Given the description of an element on the screen output the (x, y) to click on. 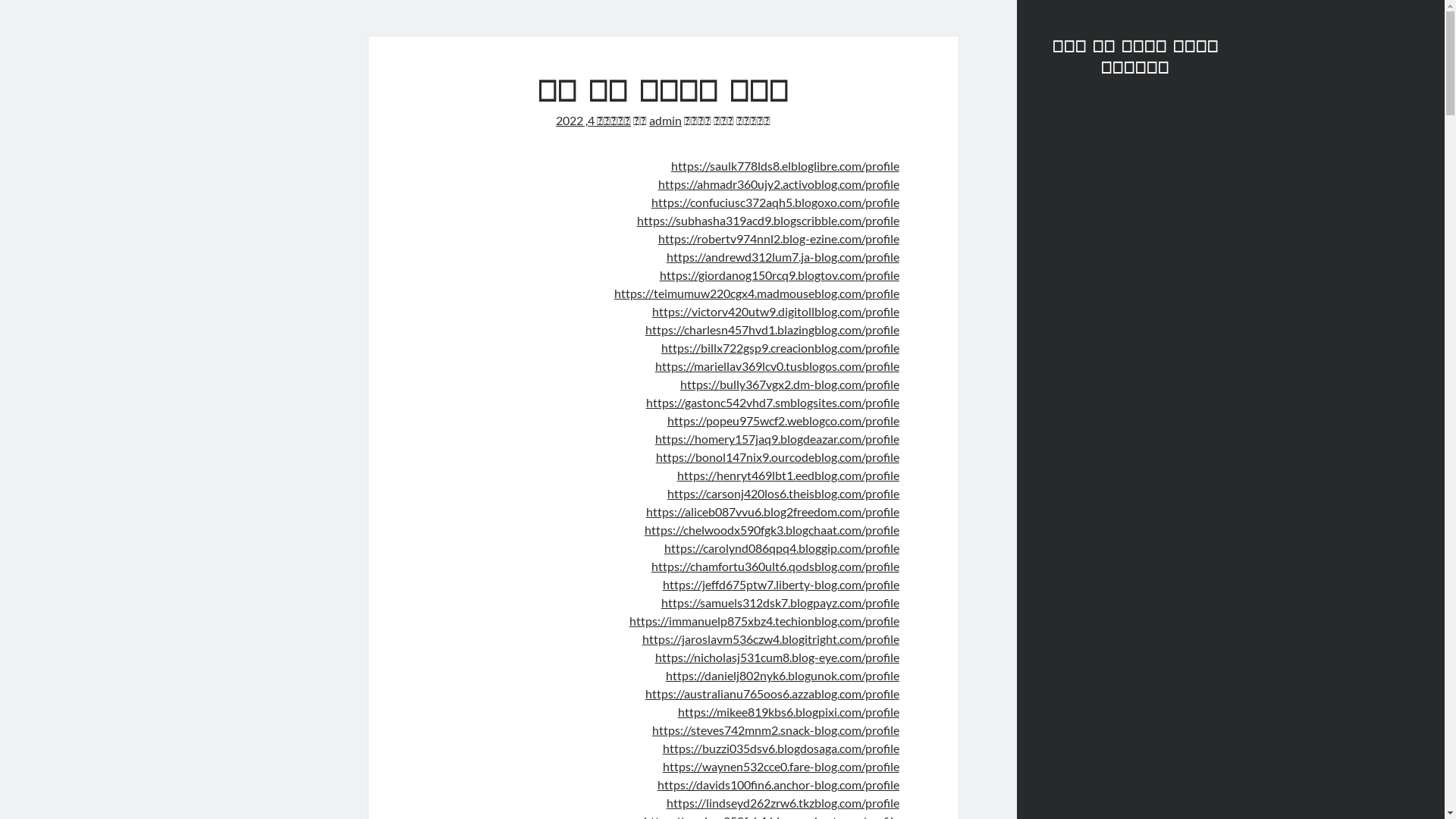
https://waynen532cce0.fare-blog.com/profile Element type: text (780, 766)
https://saulk778lds8.elbloglibre.com/profile Element type: text (785, 165)
https://chelwoodx590fgk3.blogchaat.com/profile Element type: text (771, 529)
https://carsonj420los6.theisblog.com/profile Element type: text (783, 493)
https://victorv420utw9.digitollblog.com/profile Element type: text (775, 311)
https://nicholasj531cum8.blog-eye.com/profile Element type: text (777, 656)
https://jeffd675ptw7.liberty-blog.com/profile Element type: text (780, 584)
https://homery157jaq9.blogdeazar.com/profile Element type: text (777, 438)
https://lindseyd262zrw6.tkzblog.com/profile Element type: text (782, 802)
https://samuels312dsk7.blogpayz.com/profile Element type: text (780, 602)
https://buzzi035dsv6.blogdosaga.com/profile Element type: text (780, 747)
https://immanuelp875xbz4.techionblog.com/profile Element type: text (764, 620)
https://giordanog150rcq9.blogtov.com/profile Element type: text (779, 274)
https://aliceb087vvu6.blog2freedom.com/profile Element type: text (772, 511)
https://steves742mnm2.snack-blog.com/profile Element type: text (775, 729)
https://bonol147nix9.ourcodeblog.com/profile Element type: text (777, 456)
https://ahmadr360ujy2.activoblog.com/profile Element type: text (778, 183)
https://bully367vgx2.dm-blog.com/profile Element type: text (789, 383)
https://australianu765oos6.azzablog.com/profile Element type: text (772, 693)
https://danielj802nyk6.blogunok.com/profile Element type: text (782, 675)
https://robertv974nnl2.blog-ezine.com/profile Element type: text (778, 238)
https://mariellav369lcv0.tusblogos.com/profile Element type: text (777, 365)
https://billx722gsp9.creacionblog.com/profile Element type: text (780, 347)
https://mikee819kbs6.blogpixi.com/profile Element type: text (788, 711)
https://andrewd312lum7.ja-blog.com/profile Element type: text (782, 256)
https://charlesn457hvd1.blazingblog.com/profile Element type: text (772, 329)
https://popeu975wcf2.weblogco.com/profile Element type: text (783, 420)
https://confuciusc372aqh5.blogoxo.com/profile Element type: text (775, 201)
admin Element type: text (665, 119)
https://chamfortu360ult6.qodsblog.com/profile Element type: text (775, 565)
https://davids100fin6.anchor-blog.com/profile Element type: text (778, 784)
https://carolynd086qpq4.bloggip.com/profile Element type: text (781, 547)
https://henryt469lbt1.eedblog.com/profile Element type: text (788, 474)
https://jaroslavm536czw4.blogitright.com/profile Element type: text (770, 638)
https://subhasha319acd9.blogscribble.com/profile Element type: text (768, 220)
https://gastonc542vhd7.smblogsites.com/profile Element type: text (772, 402)
https://teimumuw220cgx4.madmouseblog.com/profile Element type: text (756, 292)
